Given the description of an element on the screen output the (x, y) to click on. 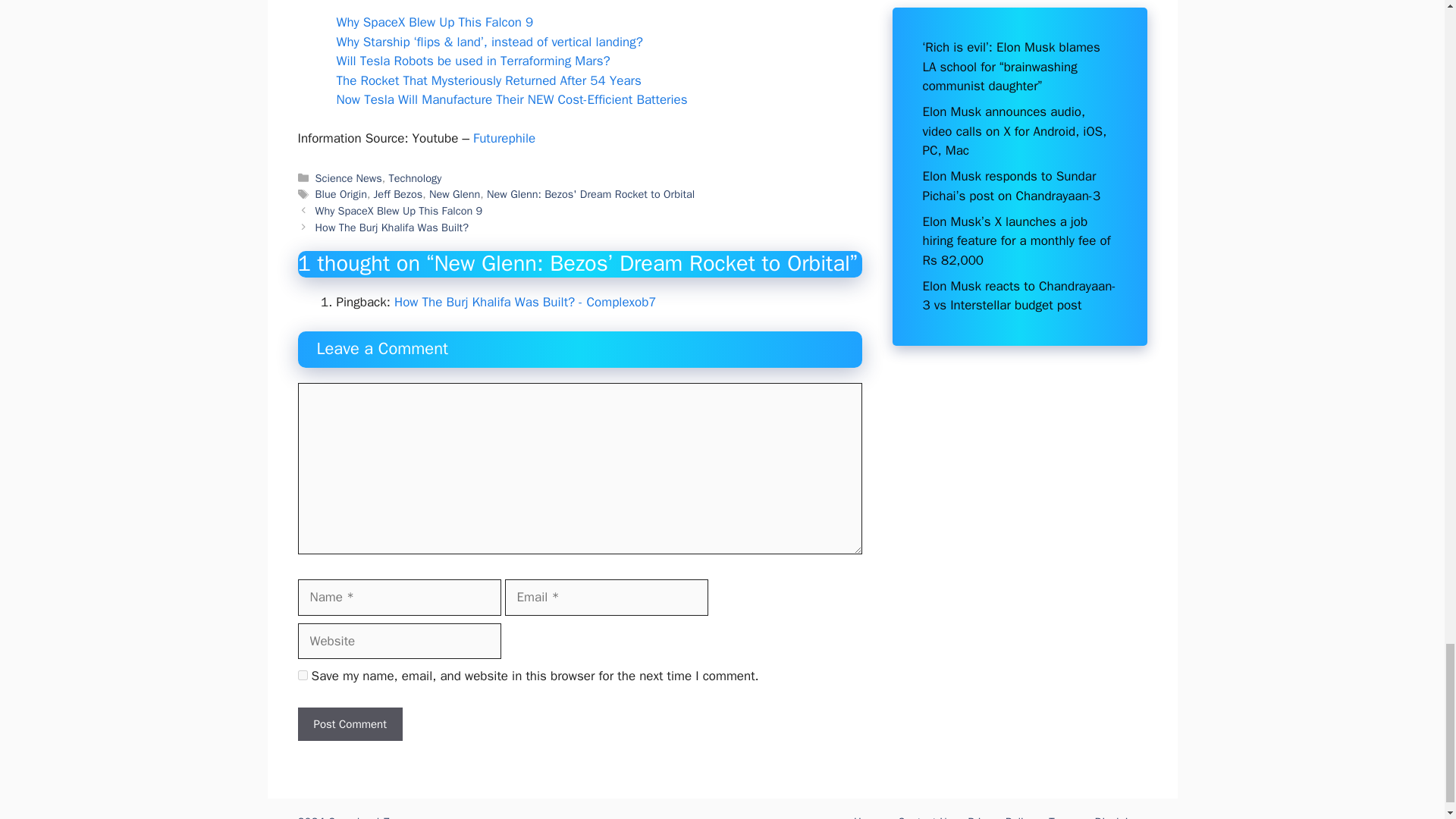
Futurephile (504, 138)
Technology (414, 178)
yes (302, 675)
Why SpaceX Blew Up This Falcon 9 (435, 22)
Will Tesla Robots be used in Terraforming Mars? (473, 60)
New Glenn (454, 193)
The Rocket That Mysteriously Returned After 54 Years (489, 80)
Post Comment (349, 724)
Jeff Bezos (398, 193)
Science News (348, 178)
Blue Origin (340, 193)
